Given the description of an element on the screen output the (x, y) to click on. 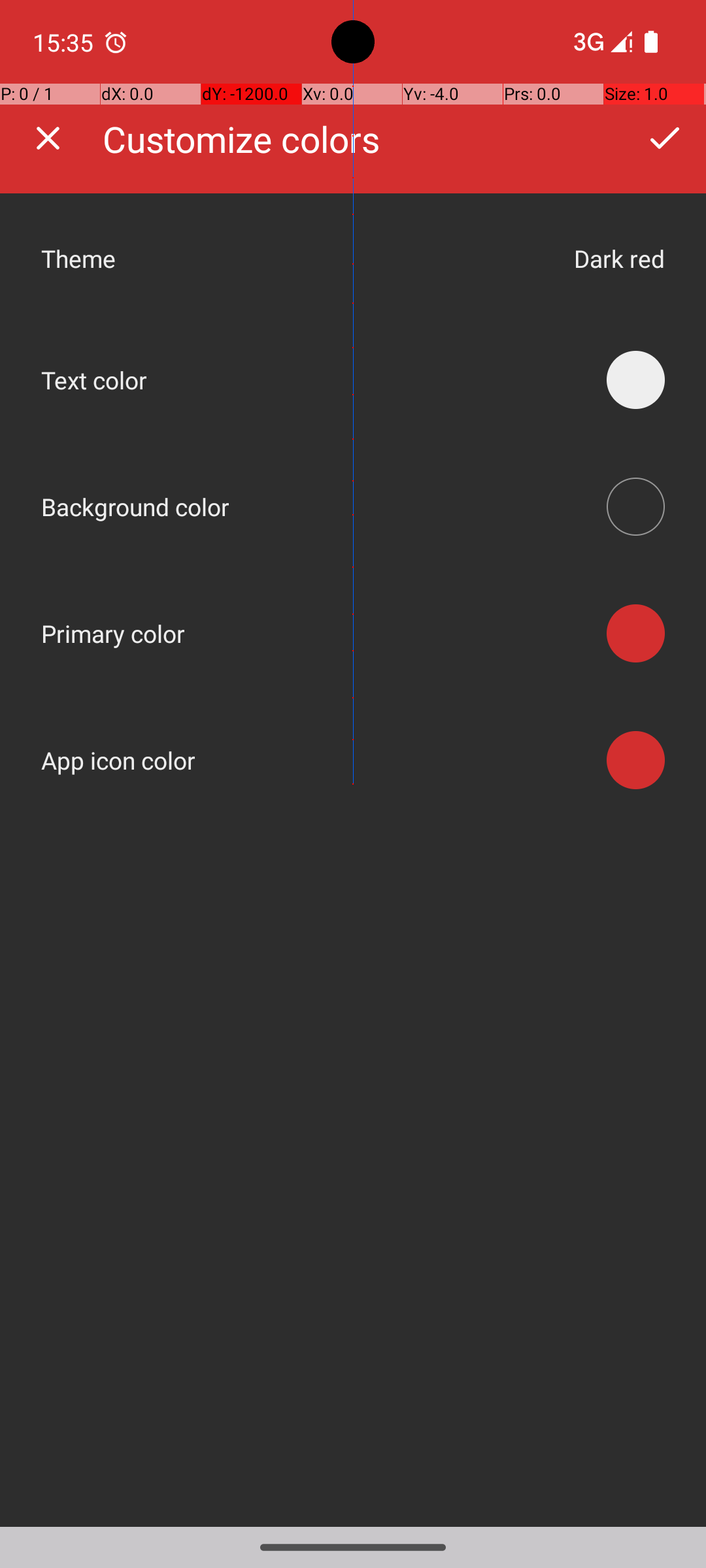
Dark red Element type: android.widget.TextView (618, 258)
Text color Element type: android.widget.TextView (94, 379)
Background color Element type: android.widget.TextView (135, 506)
Primary color Element type: android.widget.TextView (113, 633)
